Given the description of an element on the screen output the (x, y) to click on. 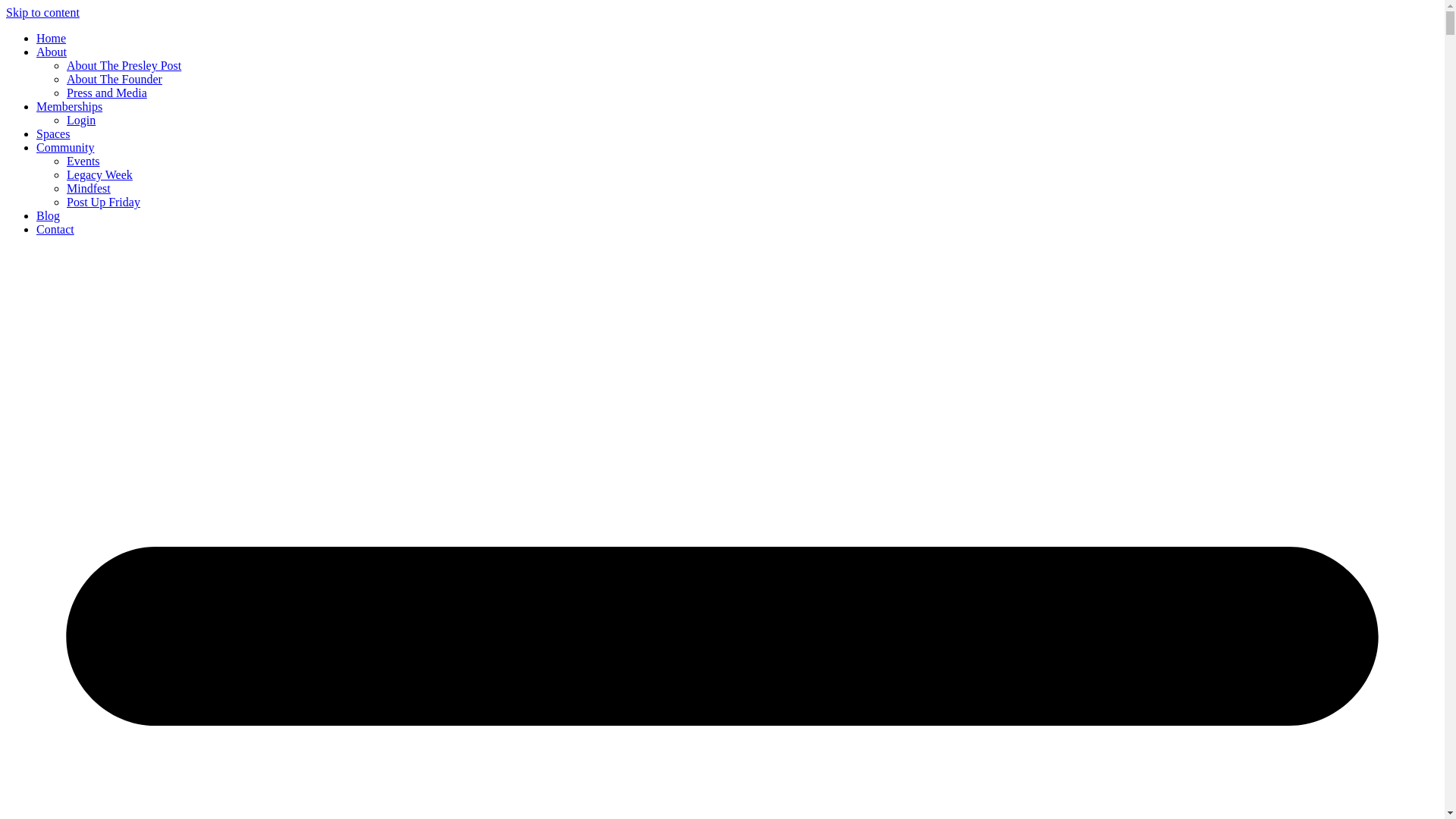
Spaces (52, 133)
Skip to content (42, 11)
Blog (47, 215)
Contact (55, 228)
Events (83, 160)
Home (50, 38)
Community (65, 146)
Press and Media (106, 92)
About The Founder (113, 78)
About The Presley Post (123, 65)
